Given the description of an element on the screen output the (x, y) to click on. 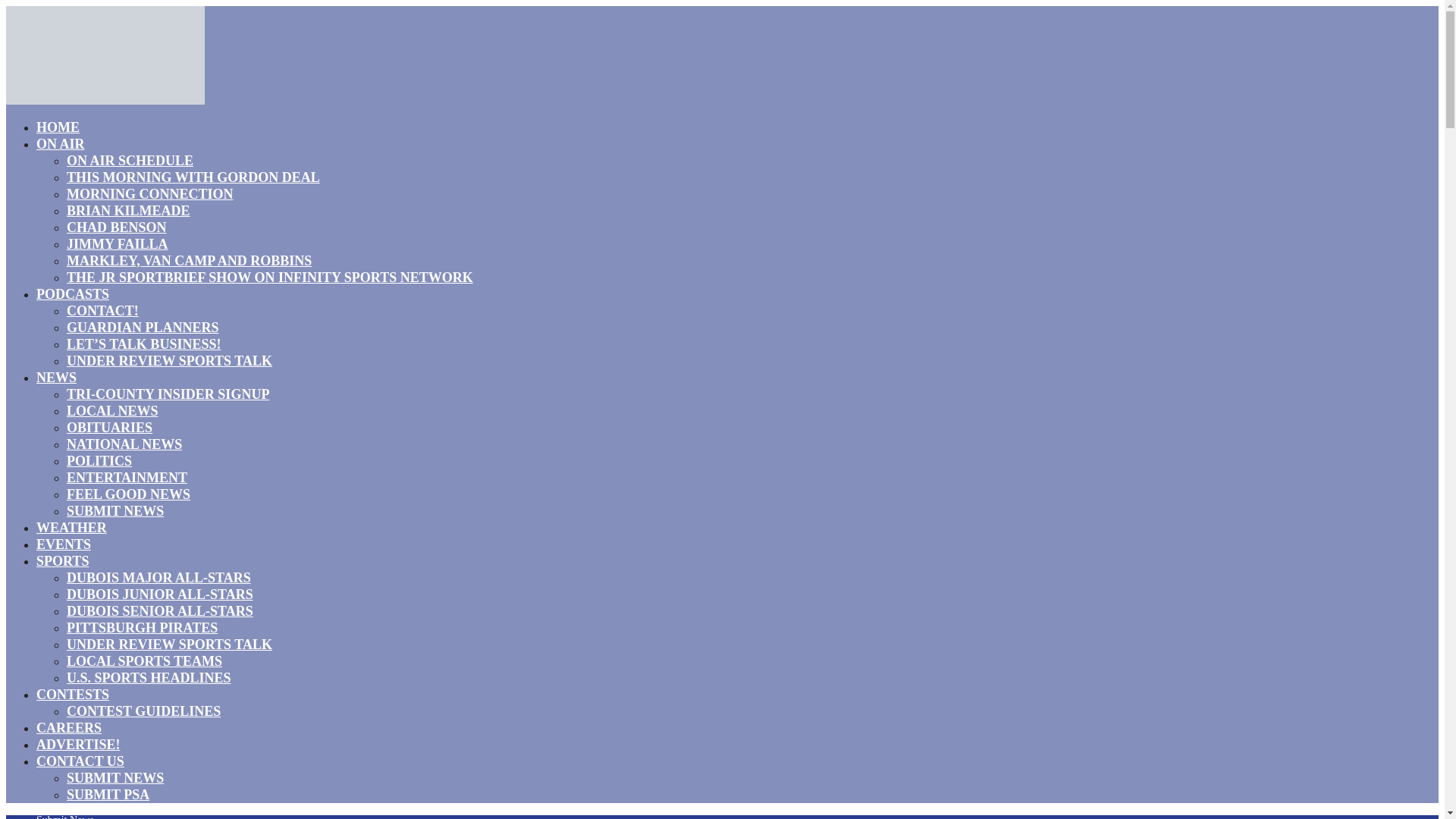
EVENTS (63, 544)
UNDER REVIEW SPORTS TALK (169, 644)
SUBMIT NEWS (114, 510)
THIS MORNING WITH GORDON DEAL (193, 177)
TRI-COUNTY INSIDER SIGNUP (167, 394)
JIMMY FAILLA (117, 243)
WEATHER (71, 527)
ENTERTAINMENT (126, 477)
ON AIR (60, 143)
DUBOIS SENIOR ALL-STARS (159, 610)
CONTESTS (72, 694)
LOCAL NEWS (112, 410)
PITTSBURGH PIRATES (141, 627)
CHAD BENSON (116, 227)
DUBOIS MAJOR ALL-STARS (158, 577)
